Given the description of an element on the screen output the (x, y) to click on. 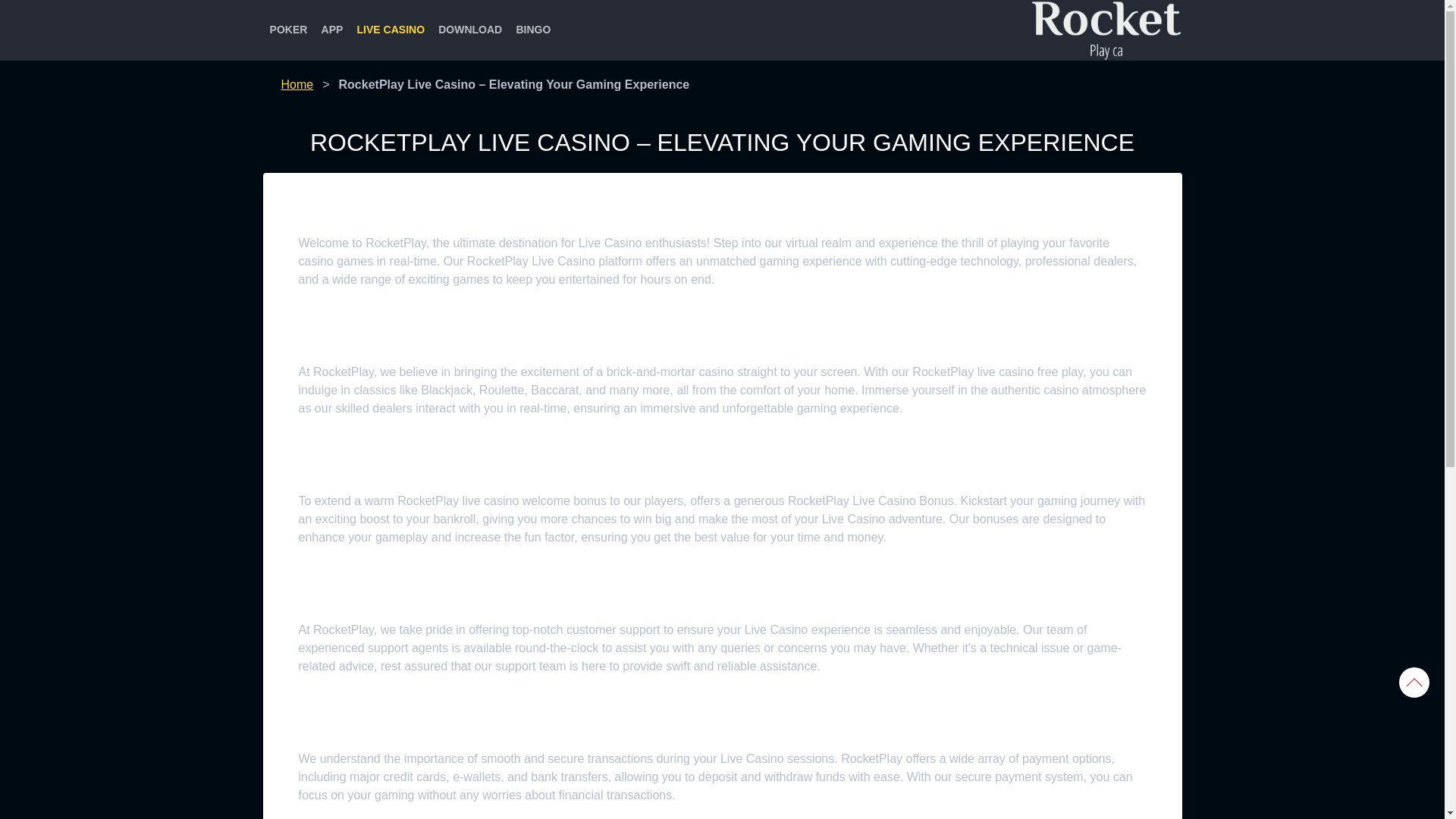
LIVE CASINO (389, 30)
POKER (288, 30)
Home (297, 83)
BINGO (532, 30)
DOWNLOAD (469, 30)
APP (331, 30)
Home (297, 83)
